Given the description of an element on the screen output the (x, y) to click on. 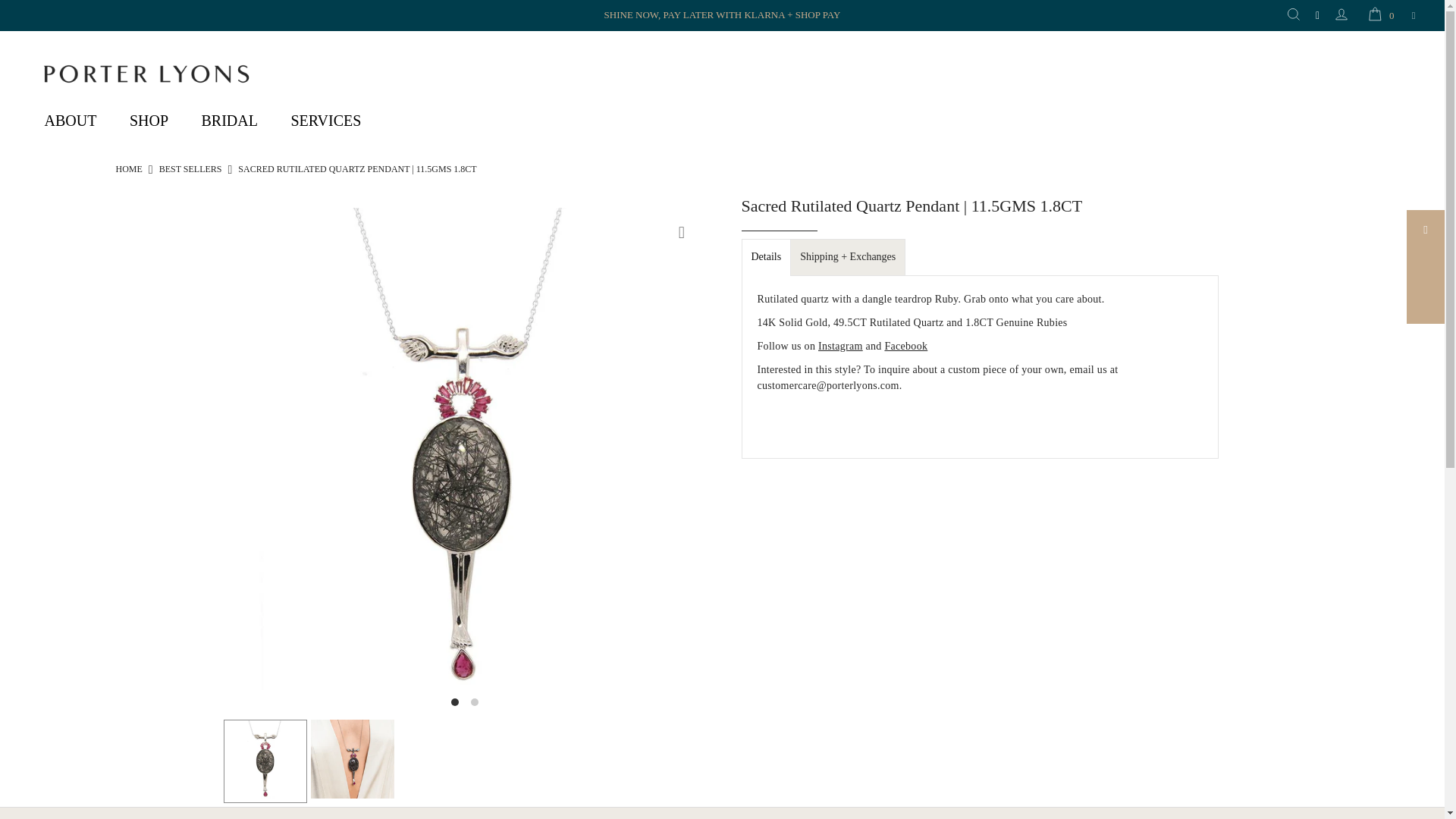
  0 (1378, 15)
SHOP (149, 120)
click to zoom-in (681, 231)
Home (128, 168)
ABOUT (70, 120)
BRIDAL (229, 120)
